Given the description of an element on the screen output the (x, y) to click on. 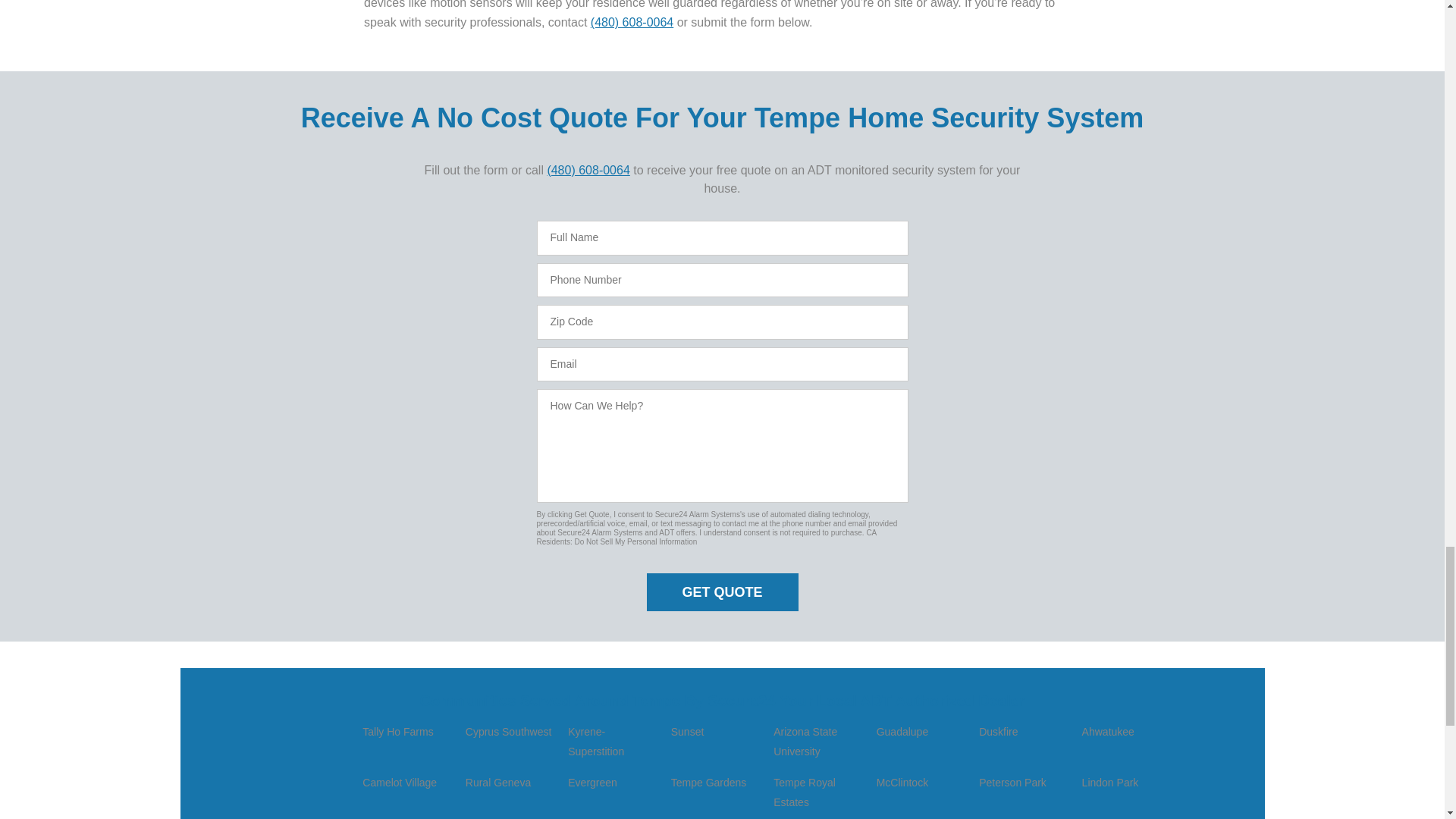
GET QUOTE (721, 591)
green (548, 237)
